Given the description of an element on the screen output the (x, y) to click on. 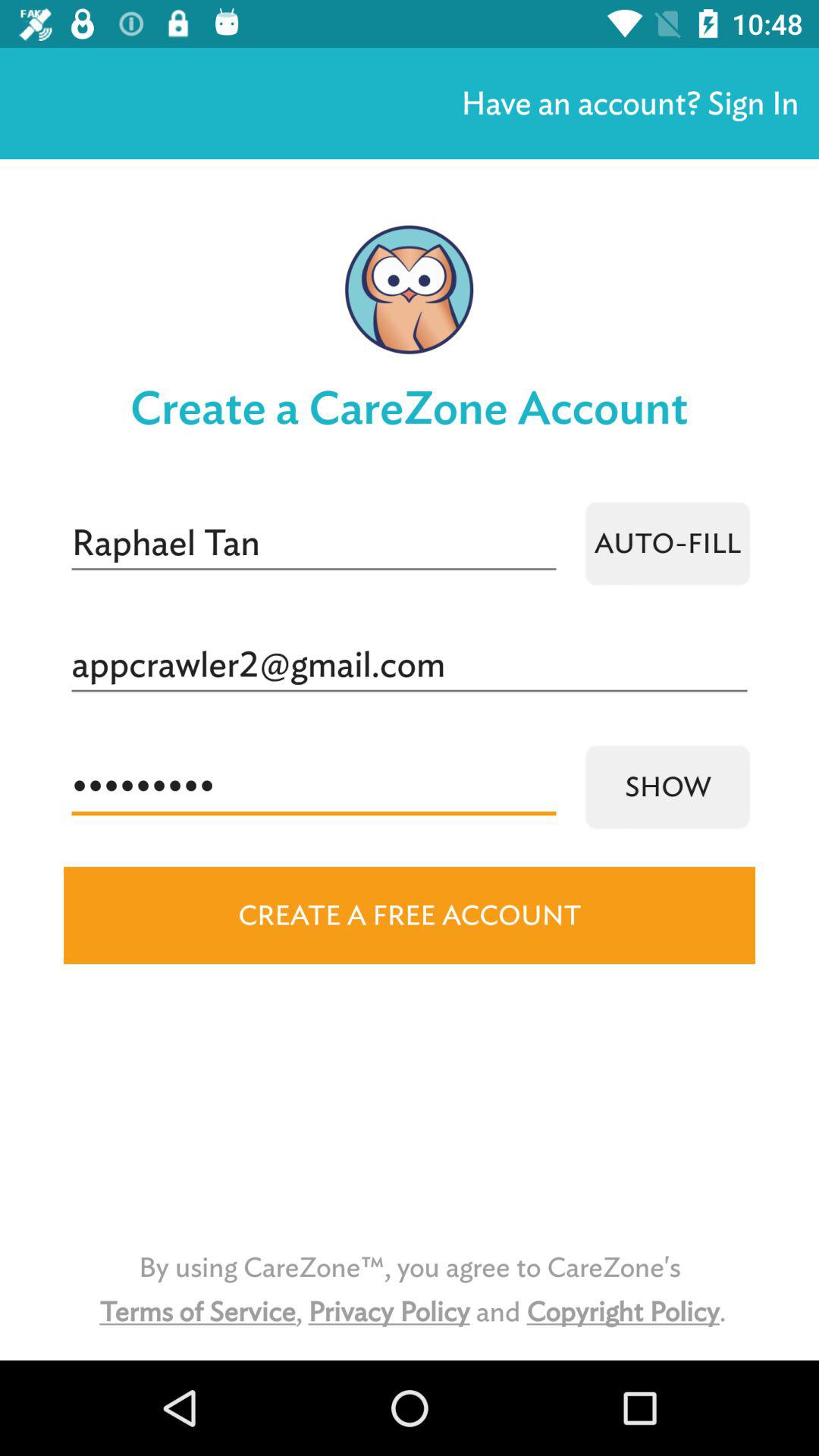
turn on icon below the create a carezone (313, 543)
